Given the description of an element on the screen output the (x, y) to click on. 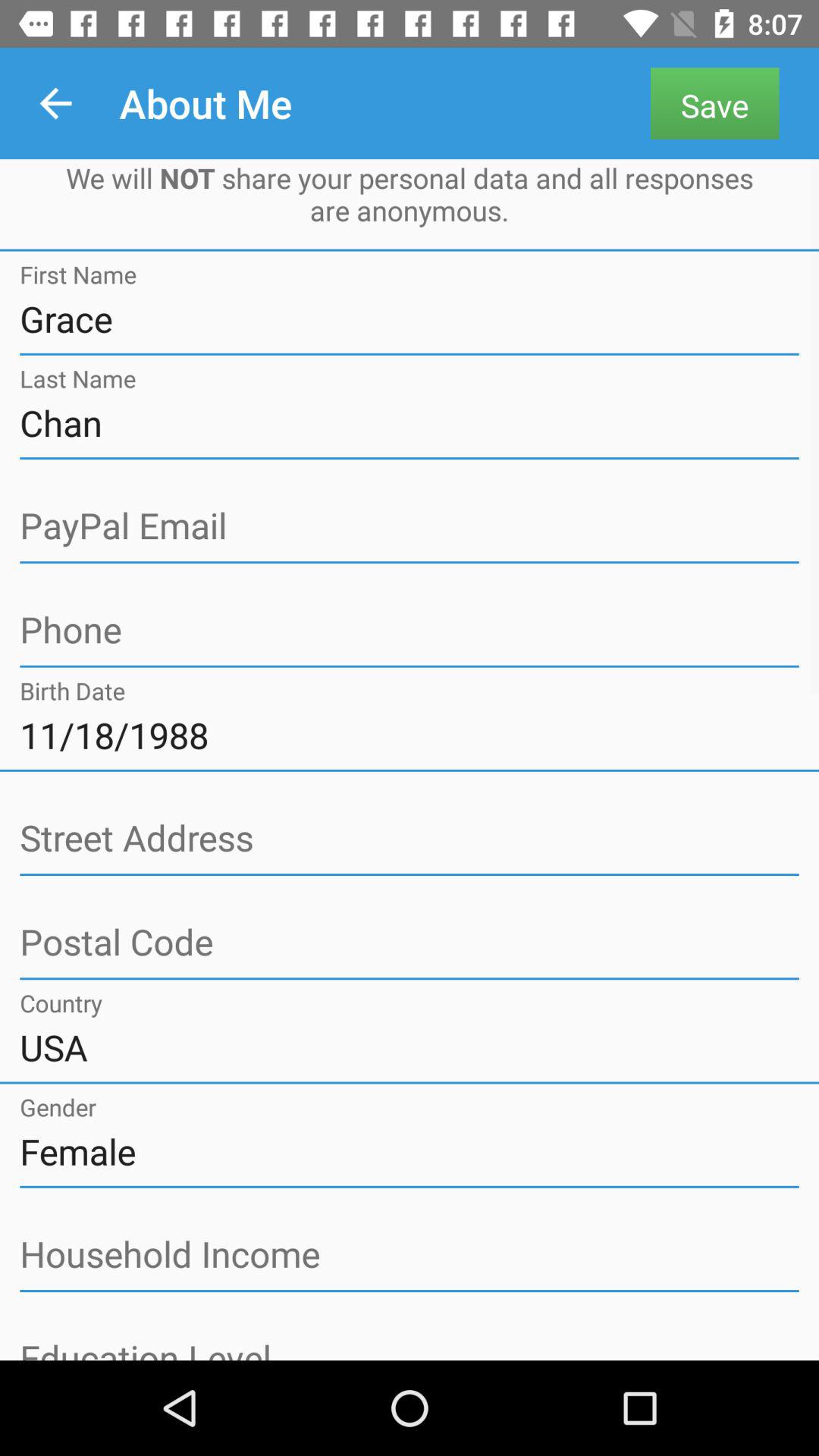
address page (409, 943)
